Given the description of an element on the screen output the (x, y) to click on. 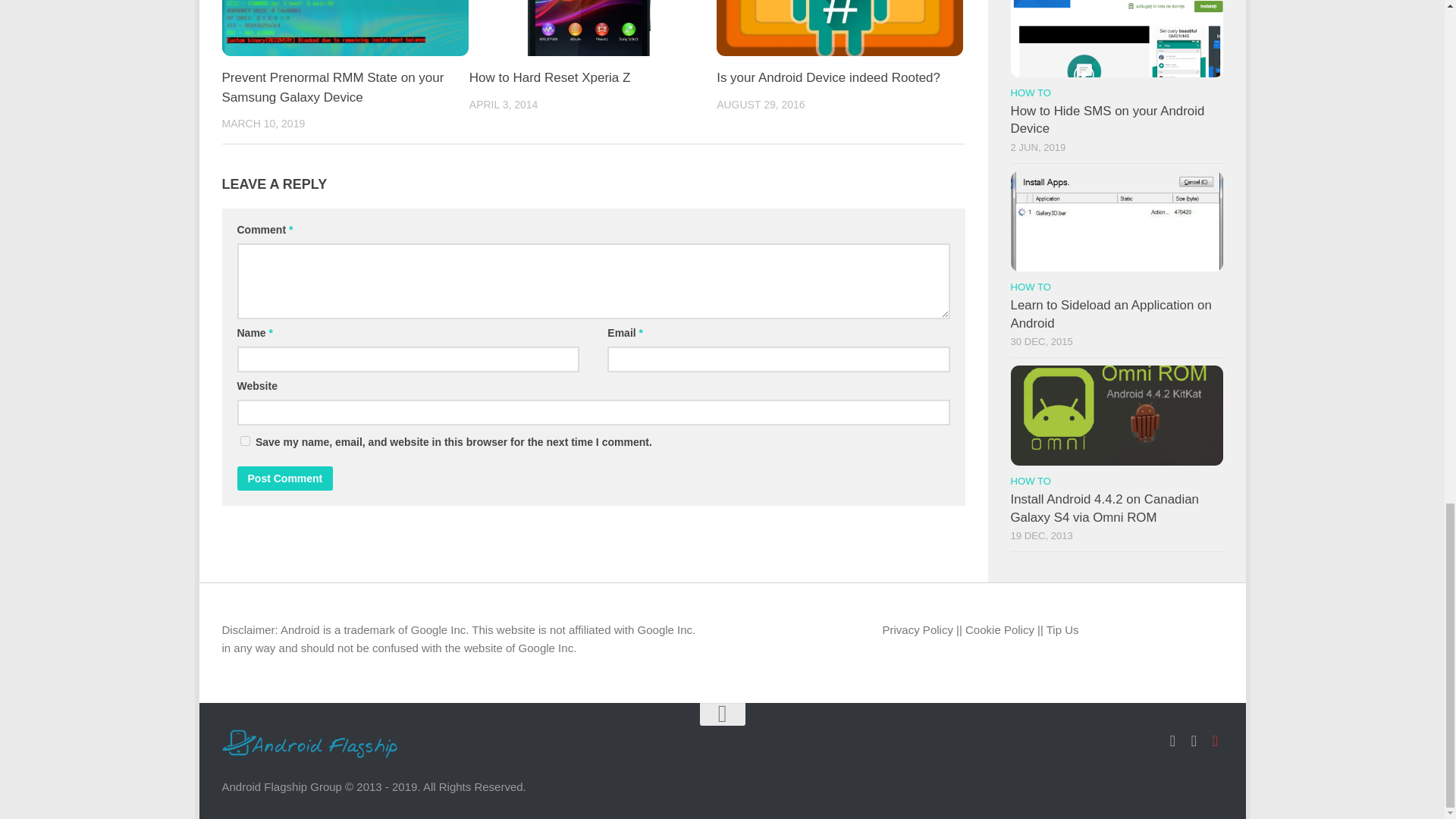
Permalink to Is your Android Device indeed Rooted? (828, 77)
Permalink to How to Hard Reset Xperia Z (549, 77)
yes (244, 440)
Post Comment (284, 478)
Prevent Prenormal RMM State on your Samsung Galaxy Device (332, 87)
Is your Android Device indeed Rooted? (828, 77)
How to Hard Reset Xperia Z (549, 77)
Post Comment (284, 478)
